Given the description of an element on the screen output the (x, y) to click on. 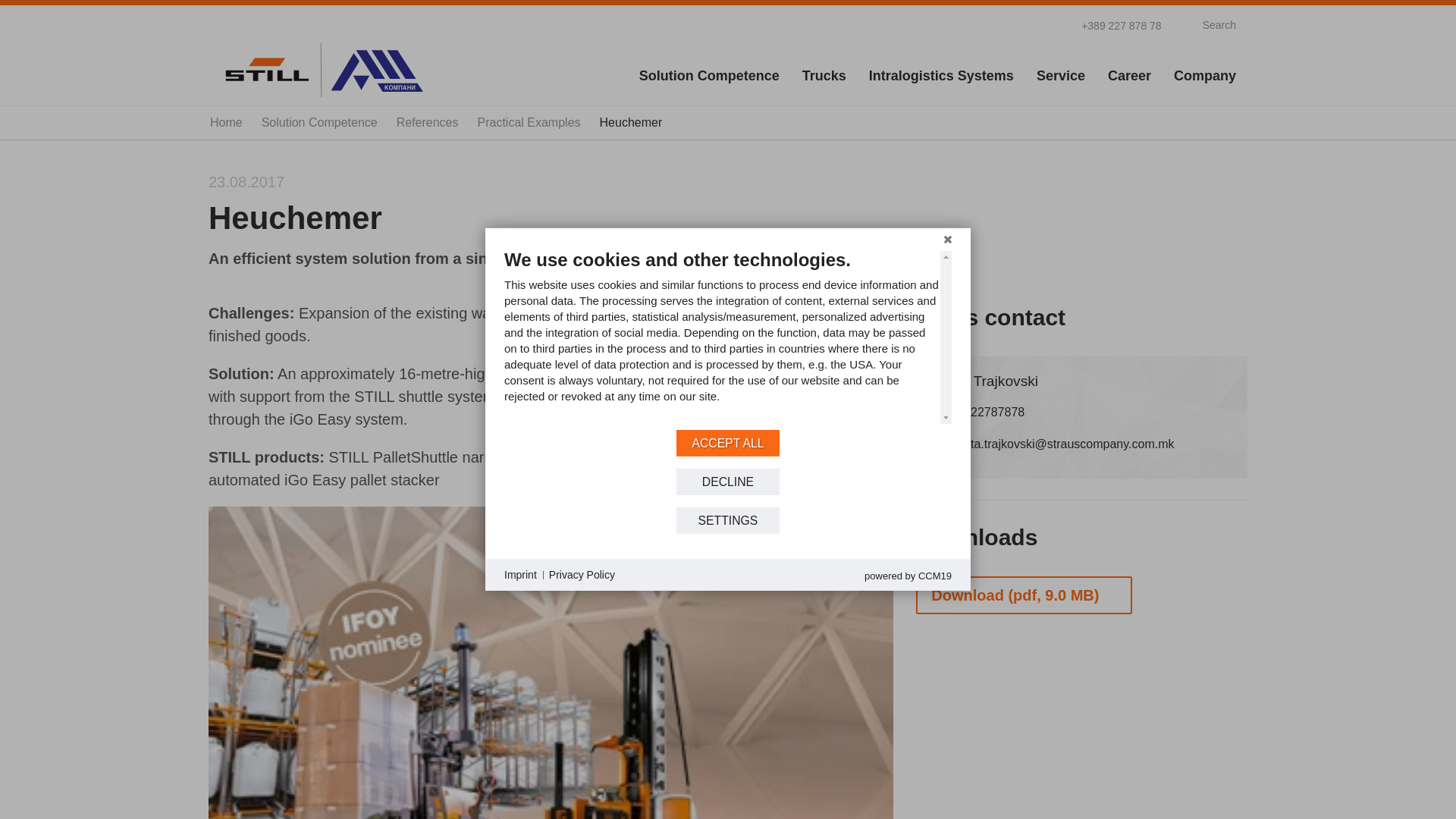
STILL Macedonia (321, 69)
Close (947, 239)
Call hotline (1112, 24)
